Given the description of an element on the screen output the (x, y) to click on. 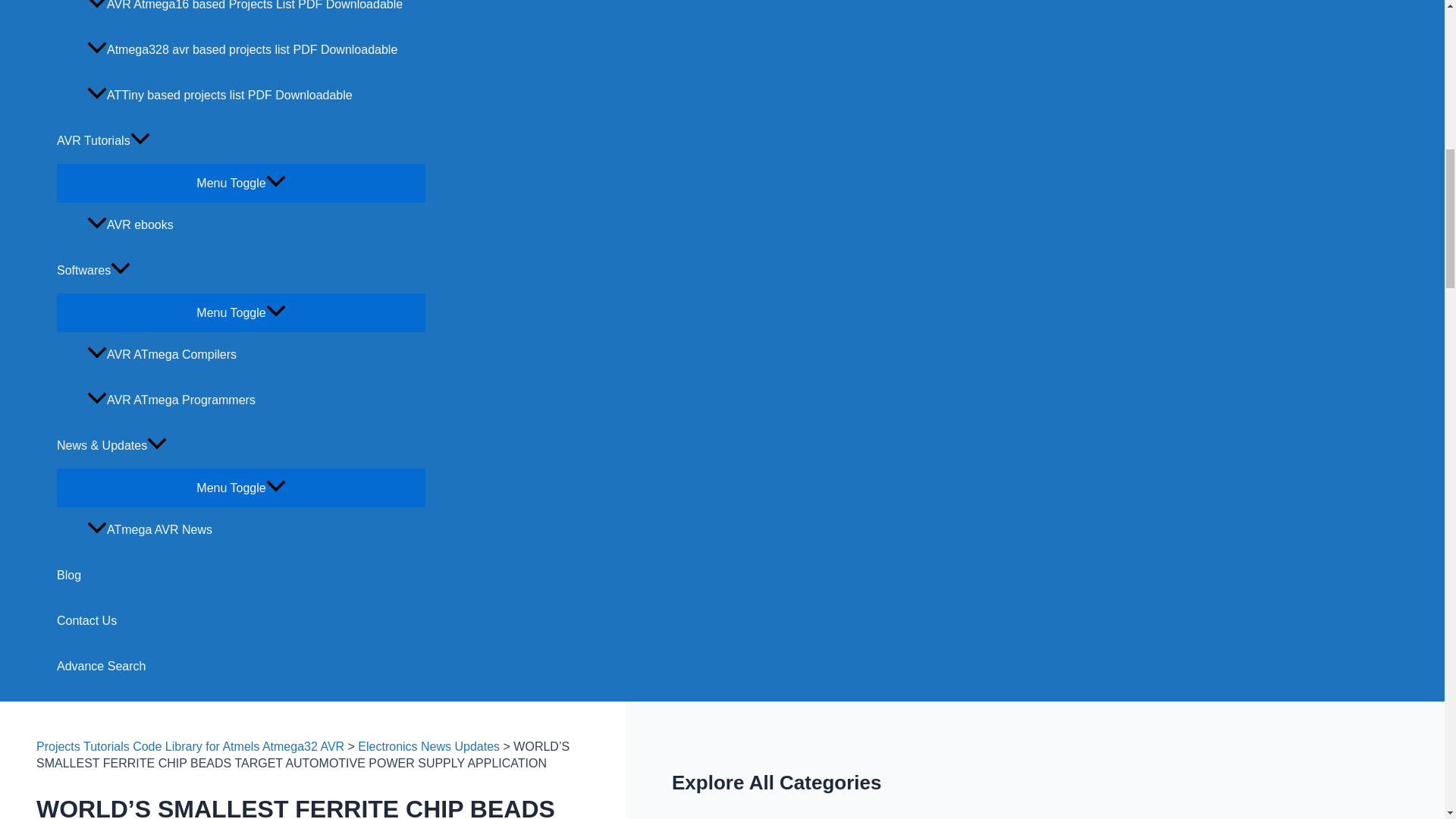
AVR ATmega Compilers (256, 354)
Contact Us (240, 620)
ATTiny based projects list PDF Downloadable (256, 94)
Menu Toggle (240, 181)
Go to the Electronics News Updates Category archives. (428, 746)
Atmega328 avr based projects list PDF Downloadable (256, 49)
AVR ebooks (256, 225)
Menu Toggle (240, 487)
Blog (240, 575)
Menu Toggle (240, 311)
ATmega AVR News (256, 529)
AVR Tutorials (240, 140)
Softwares (240, 270)
AVR Atmega16 based Projects List PDF Downloadable (256, 13)
